Given the description of an element on the screen output the (x, y) to click on. 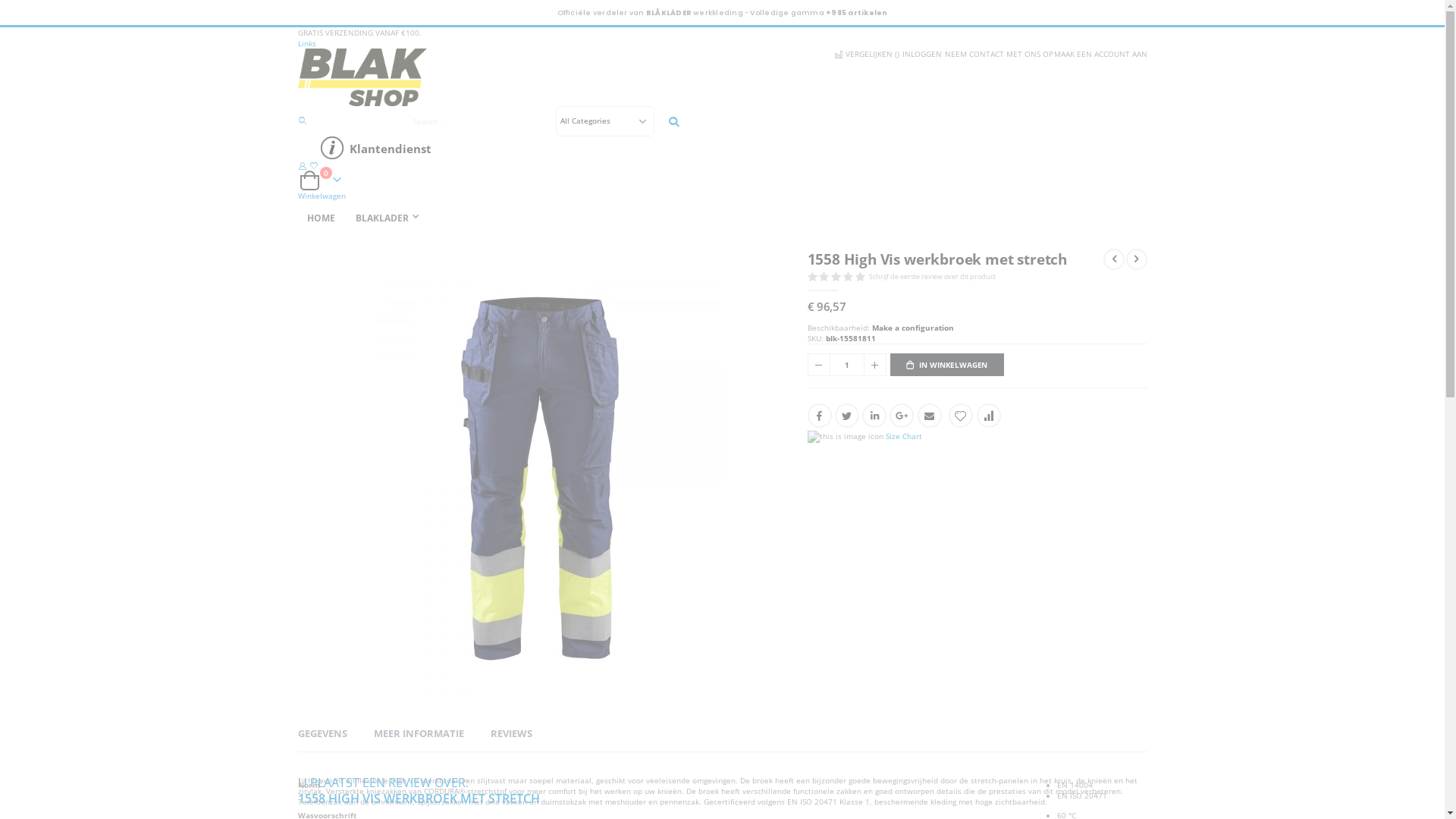
Schrijf de eerste review over dit product Element type: text (935, 276)
HOME Element type: text (320, 217)
Previous Product Element type: hover (1113, 258)
MEER INFORMATIE Element type: text (418, 733)
Google + Element type: text (901, 415)
Links Element type: text (306, 42)
INLOGGEN Element type: text (920, 53)
Twitter Element type: text (846, 415)
GEGEVENS Element type: text (321, 733)
MAAK EEN ACCOUNT AAN Element type: text (1099, 53)
Facebook Element type: text (818, 415)
BLAKLADER Element type: text (389, 217)
Next Product Element type: hover (1135, 258)
Search Element type: text (673, 121)
IN WINKELWAGEN Element type: text (947, 364)
VERGELIJKEN () Element type: text (865, 53)
REVIEWS Element type: text (510, 733)
Ga naar het einde van de afbeeldingen-gallerij Element type: text (297, 250)
Klantendienst Element type: text (727, 148)
Ga naar het begin van de afbeeldingen-gallerij Element type: text (297, 705)
Email Element type: text (929, 415)
Blakshop Logo Element type: hover (721, 77)
Cart
0 Element type: text (321, 180)
Aantal Element type: hover (845, 364)
LinkedIn Element type: text (874, 415)
Winkelwagen Element type: text (321, 195)
NEEM CONTACT MET ONS OP Element type: text (997, 53)
Wishlist Element type: hover (313, 165)
My Account Element type: hover (301, 165)
Size Chart Element type: text (903, 435)
